Given the description of an element on the screen output the (x, y) to click on. 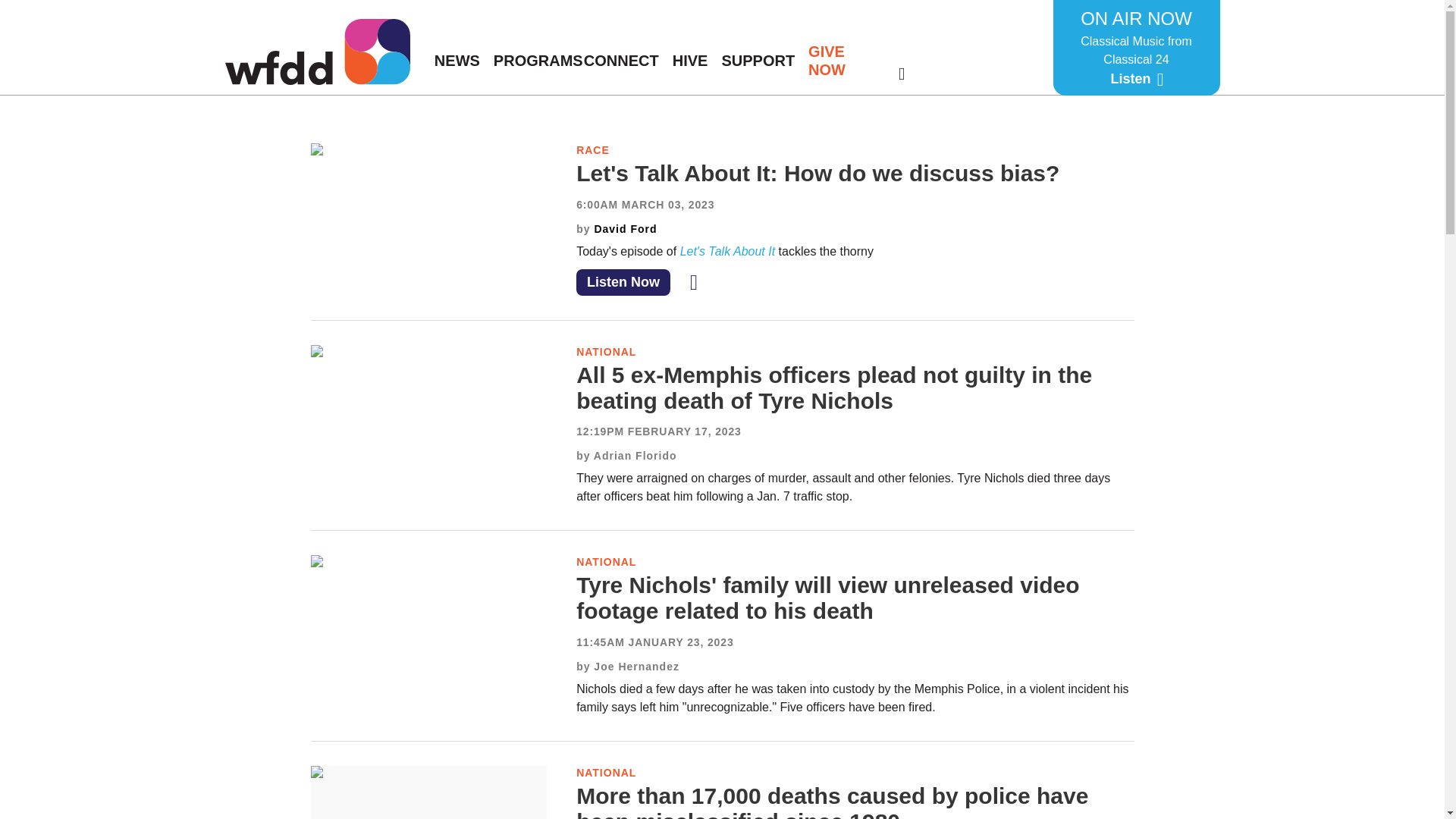
Home (316, 51)
Let's Talk About It website (728, 250)
